Given the description of an element on the screen output the (x, y) to click on. 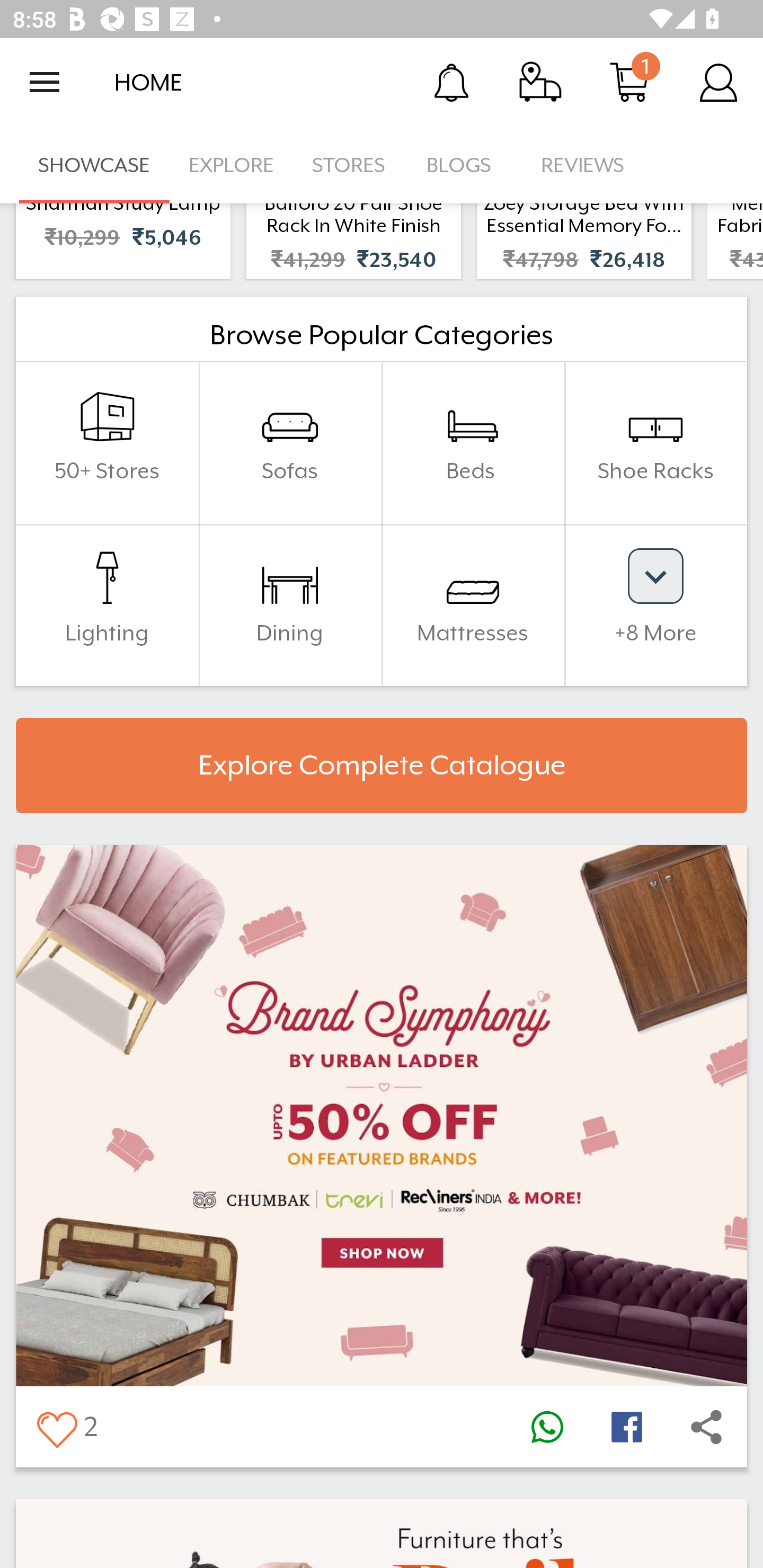
Open navigation drawer (44, 82)
Notification (450, 81)
Track Order (540, 81)
Cart (629, 81)
Account Details (718, 81)
SHOWCASE (94, 165)
EXPLORE (230, 165)
STORES (349, 165)
BLOGS (464, 165)
REVIEWS (582, 165)
Sharman Study Lamp ₹10,299 ₹5,046 (123, 241)
50+ Stores (106, 442)
Sofas (289, 442)
Beds  (473, 442)
Shoe Racks (655, 442)
Lighting (106, 604)
Dining (289, 604)
Mattresses (473, 604)
 +8 More (655, 604)
Explore Complete Catalogue (381, 765)
 (55, 1426)
 (547, 1426)
 (626, 1426)
 (706, 1426)
